Given the description of an element on the screen output the (x, y) to click on. 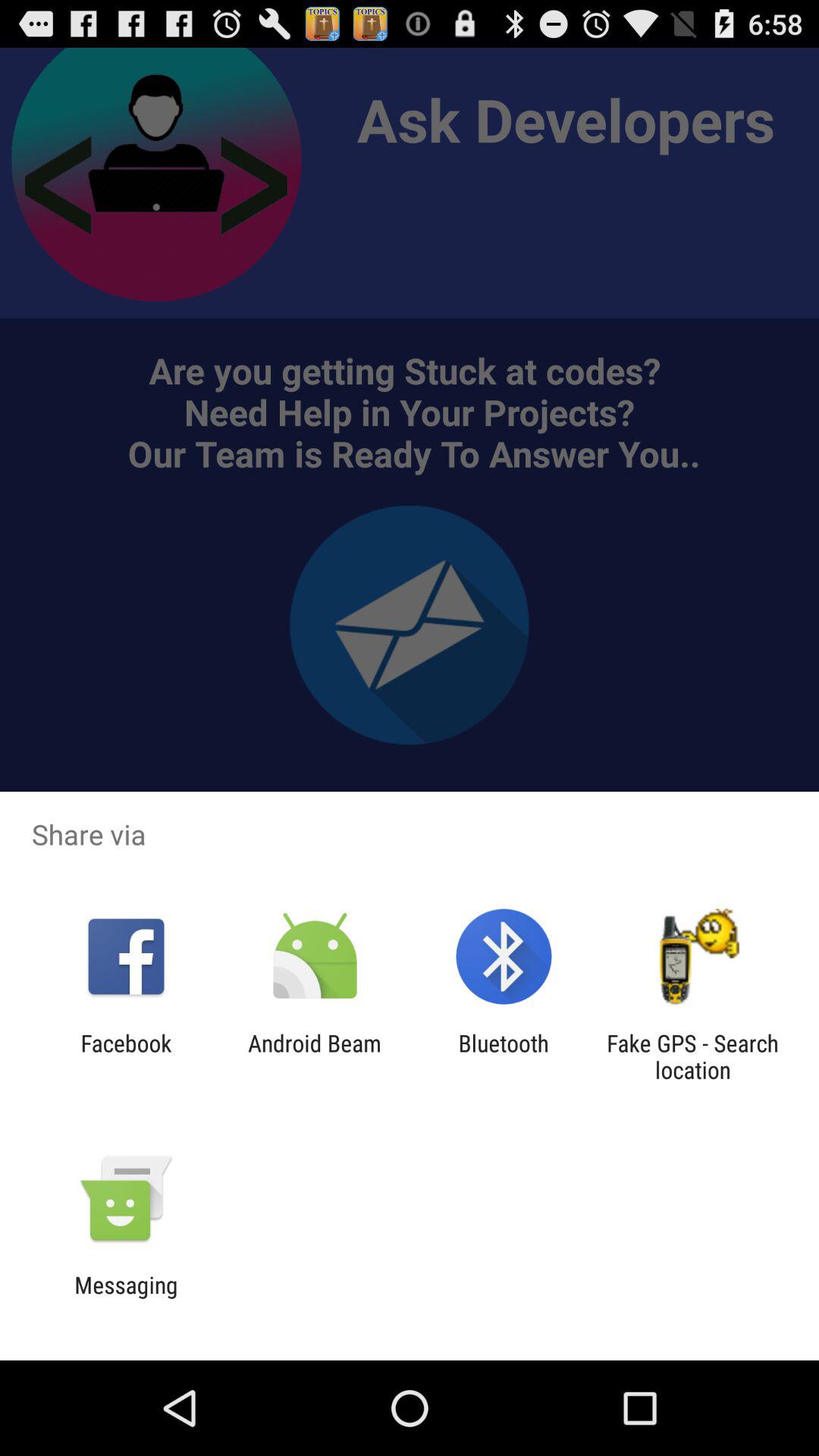
turn off icon next to bluetooth icon (314, 1056)
